Given the description of an element on the screen output the (x, y) to click on. 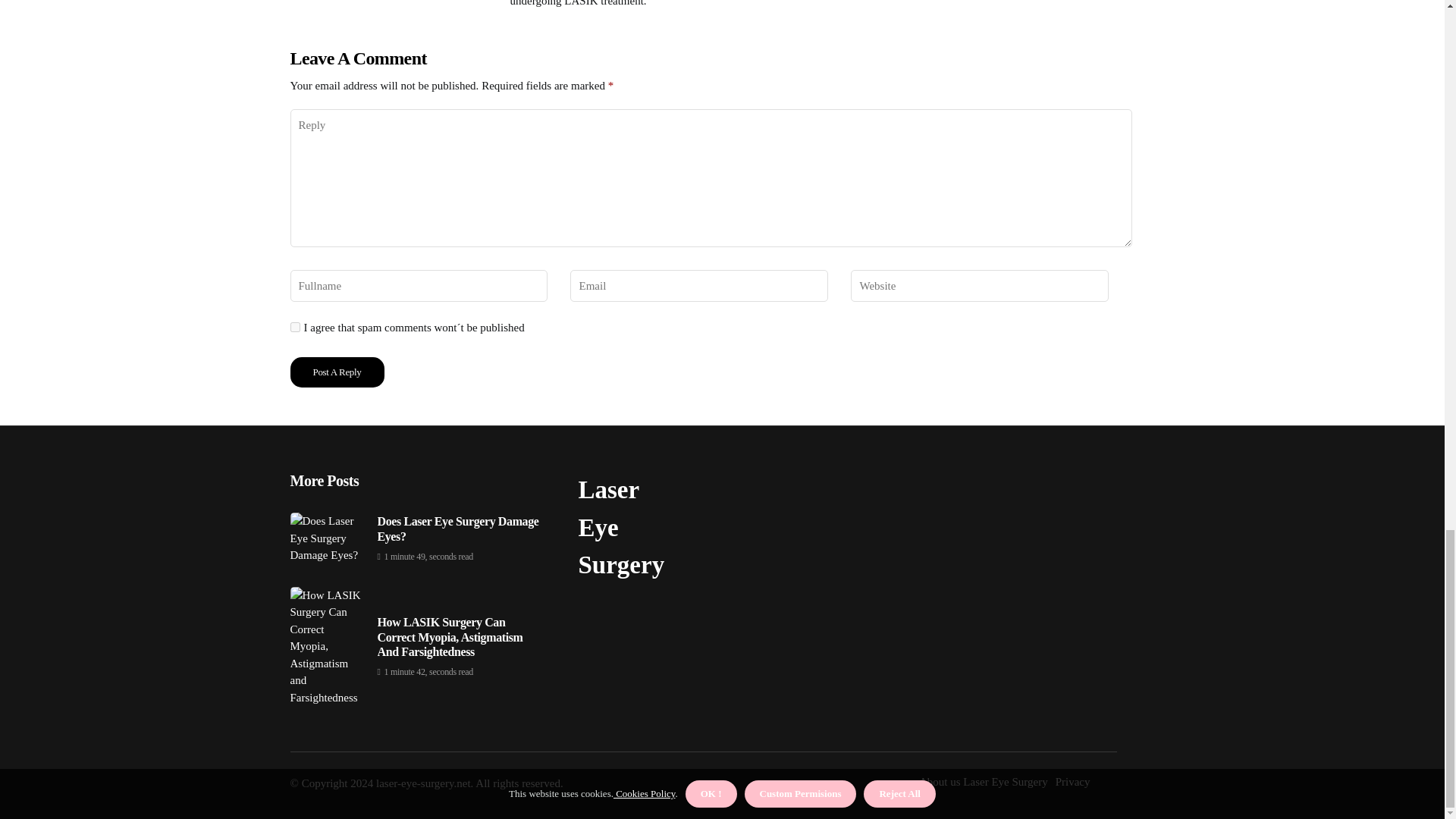
Post a Reply (336, 372)
yes (294, 327)
Post a Reply (336, 372)
